Given the description of an element on the screen output the (x, y) to click on. 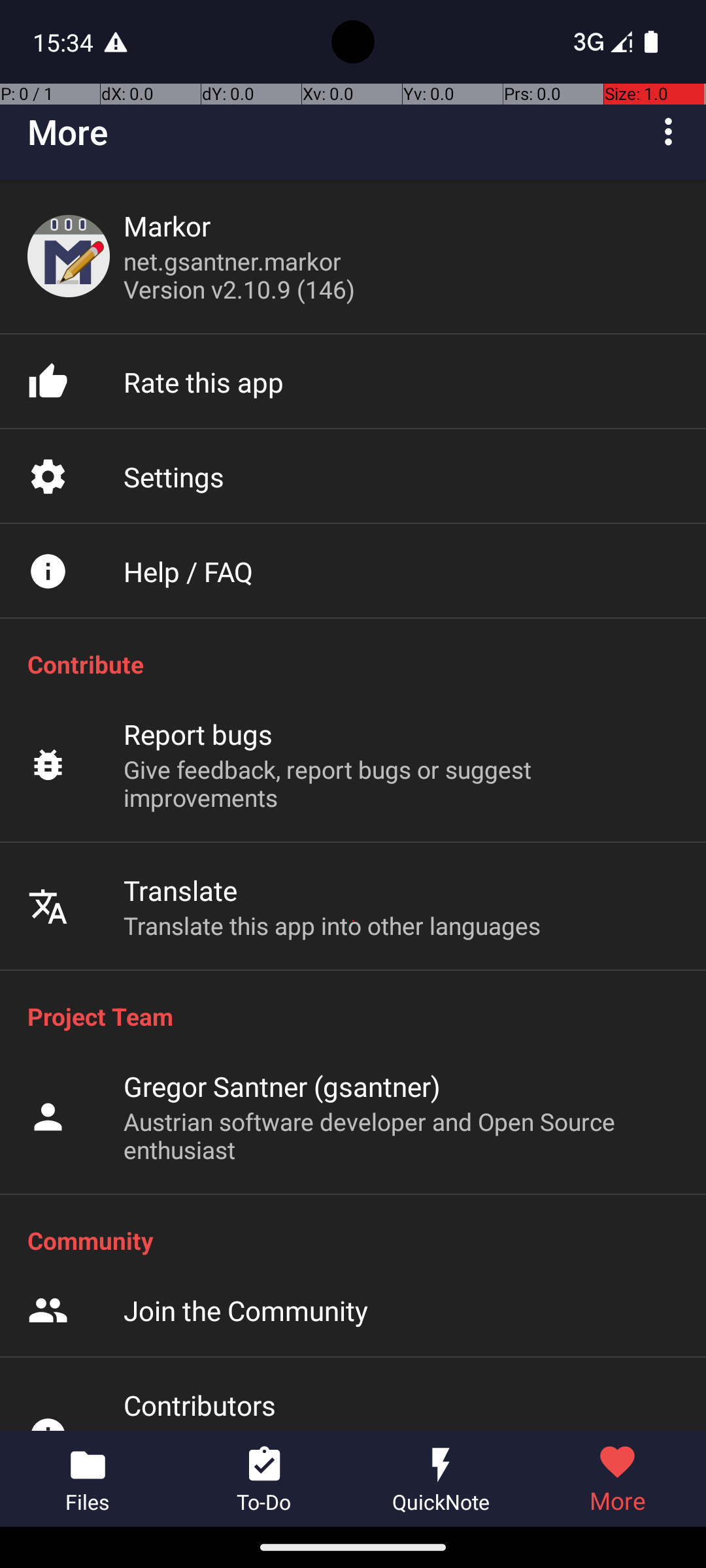
Contribute Element type: android.widget.TextView (359, 663)
Project Team Element type: android.widget.TextView (359, 1015)
Community Element type: android.widget.TextView (359, 1240)
net.gsantner.markor
Version v2.10.9 (146) Element type: android.widget.TextView (239, 274)
Rate this app Element type: android.widget.TextView (203, 381)
Help / FAQ Element type: android.widget.TextView (188, 570)
Report bugs Element type: android.widget.TextView (198, 733)
Give feedback, report bugs or suggest improvements Element type: android.widget.TextView (400, 783)
Translate Element type: android.widget.TextView (180, 889)
Translate this app into other languages Element type: android.widget.TextView (331, 925)
Gregor Santner (gsantner) Element type: android.widget.TextView (281, 1085)
Austrian software developer and Open Source enthusiast Element type: android.widget.TextView (400, 1135)
Join the Community Element type: android.widget.TextView (245, 1309)
Contributors Element type: android.widget.TextView (199, 1404)
Show contributor info. Provide it to be shown here on an opt-in basis after contributing Element type: android.widget.TextView (400, 1426)
